Given the description of an element on the screen output the (x, y) to click on. 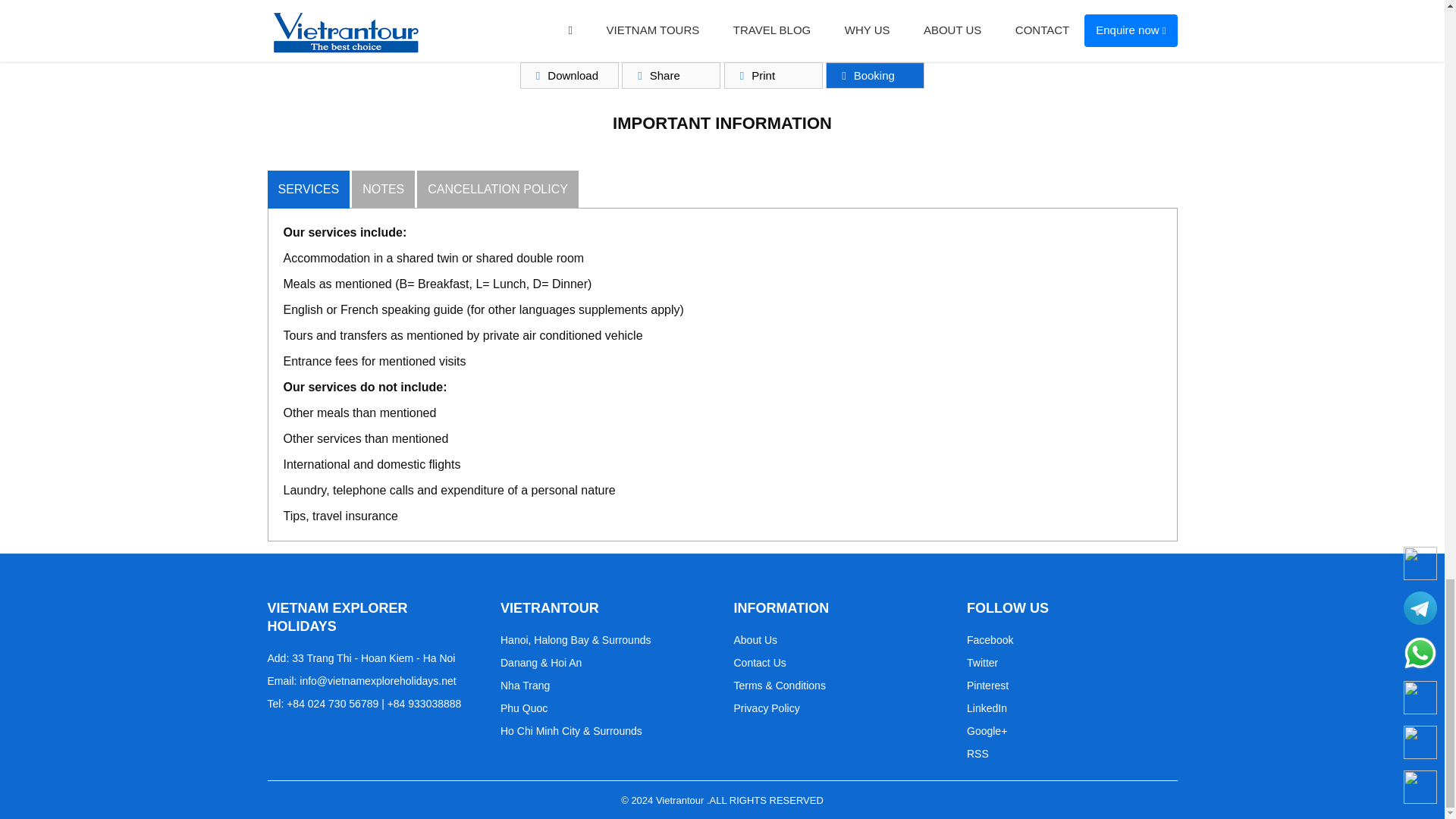
Share (670, 75)
Booking (874, 74)
Print (772, 75)
Download (568, 75)
Download (568, 74)
SERVICES (307, 189)
Booking (874, 75)
